Given the description of an element on the screen output the (x, y) to click on. 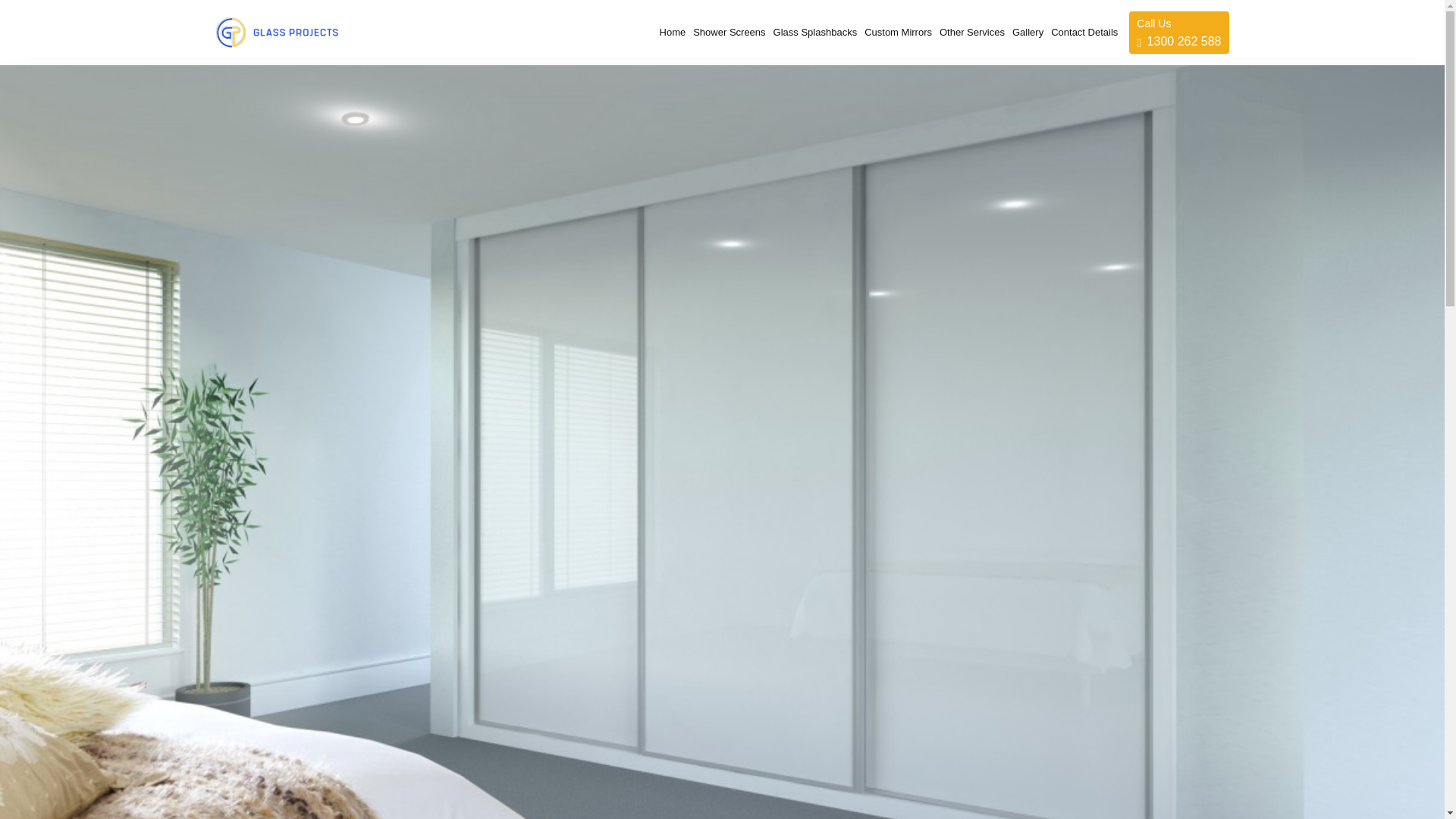
Contact Details (1080, 32)
Custom Mirrors (894, 32)
Other Services (1178, 32)
Glass Splashbacks (967, 32)
Home (811, 32)
Gallery (668, 32)
Shower Screens (1023, 32)
